Given the description of an element on the screen output the (x, y) to click on. 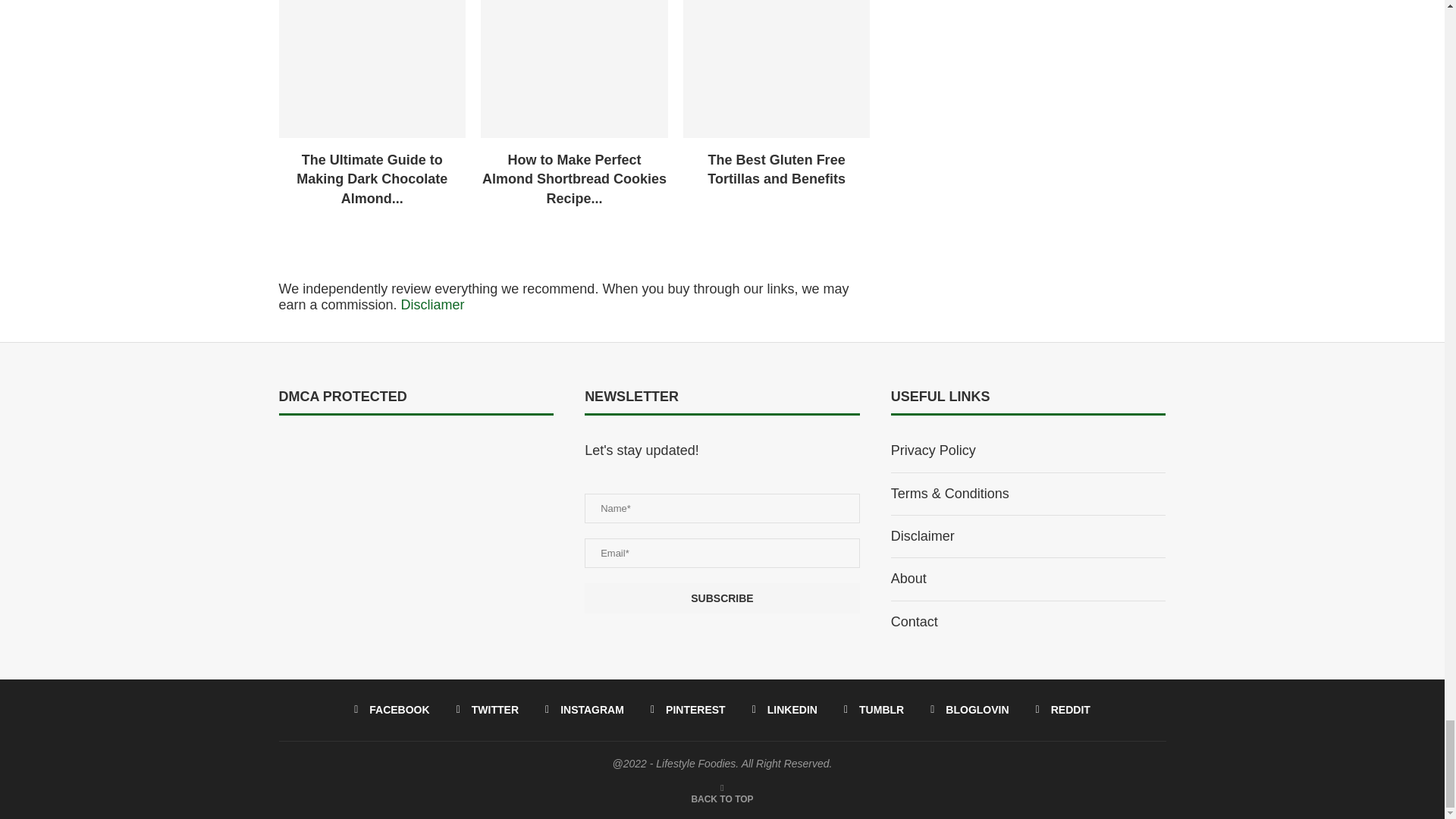
Subscribe (722, 598)
